Given the description of an element on the screen output the (x, y) to click on. 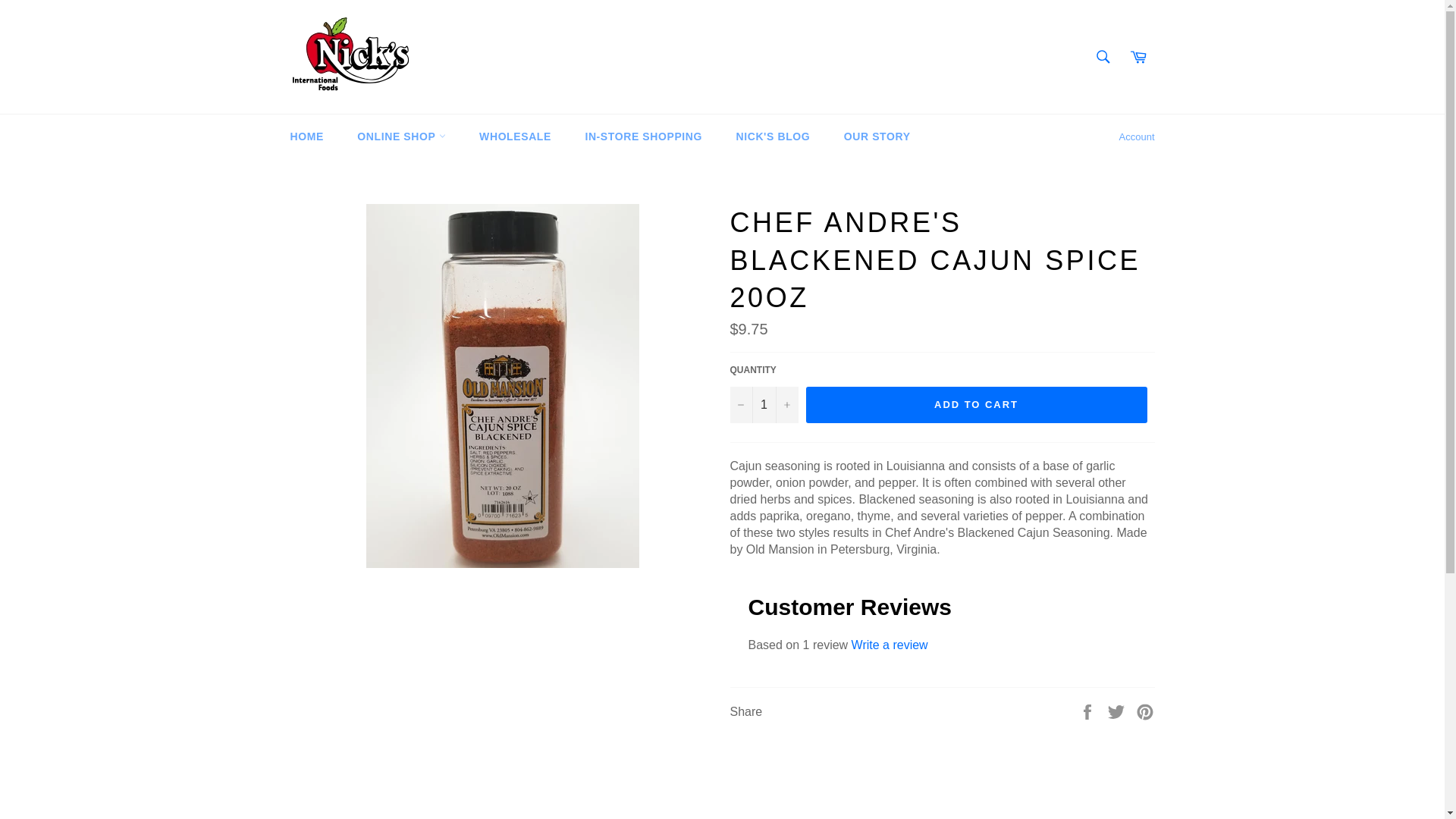
HOME (306, 136)
Pin on Pinterest (1144, 710)
1 (763, 404)
Share on Facebook (1088, 710)
ONLINE SHOP (401, 136)
Cart (1138, 56)
Tweet on Twitter (1117, 710)
Search (1101, 56)
